Given the description of an element on the screen output the (x, y) to click on. 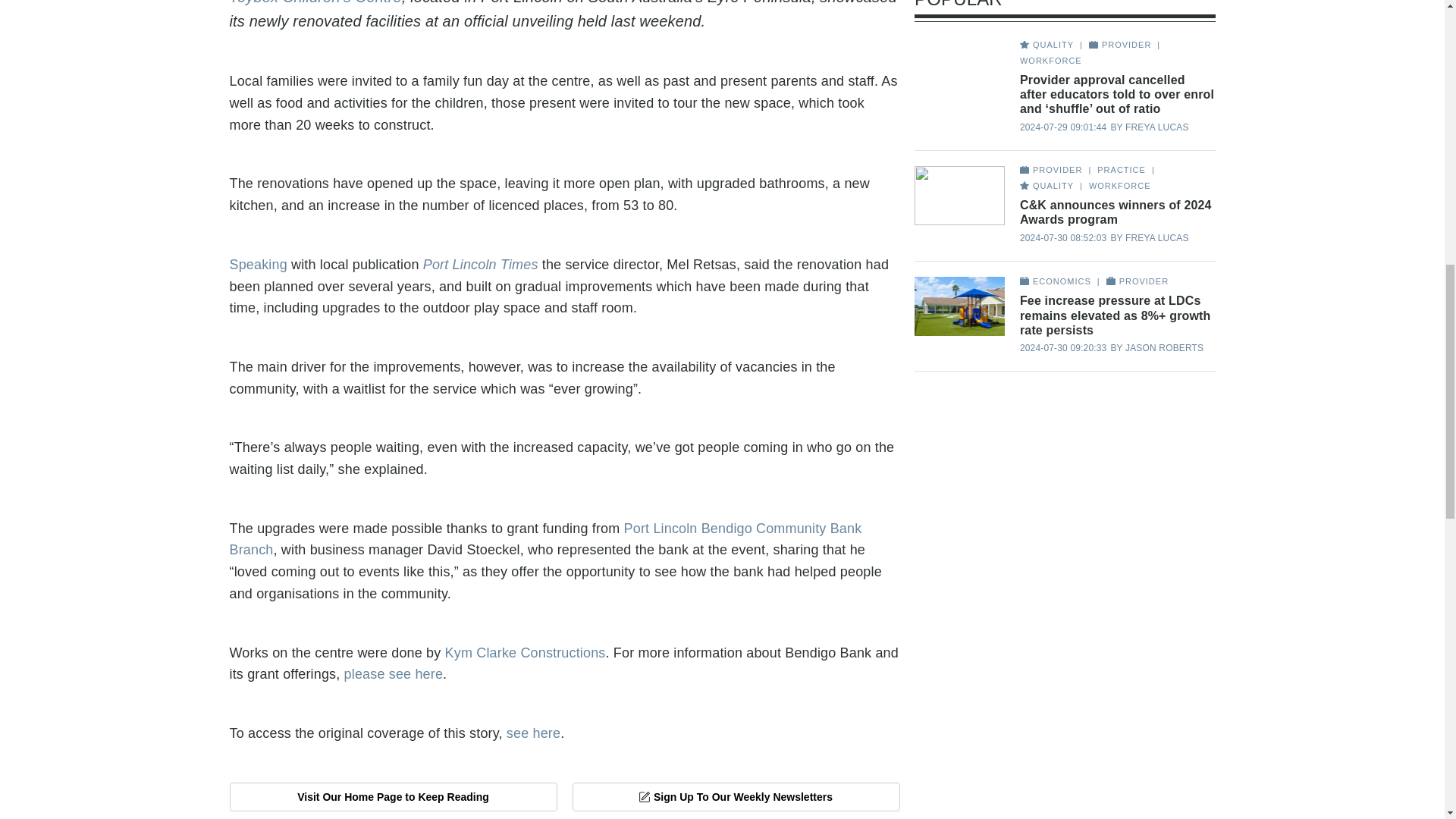
Port Lincoln Times (480, 264)
see here (533, 733)
Port Lincoln Bendigo Community Bank Branch (544, 538)
Kym Clarke Constructions (525, 652)
please see here (393, 673)
Speaking (257, 264)
